Given the description of an element on the screen output the (x, y) to click on. 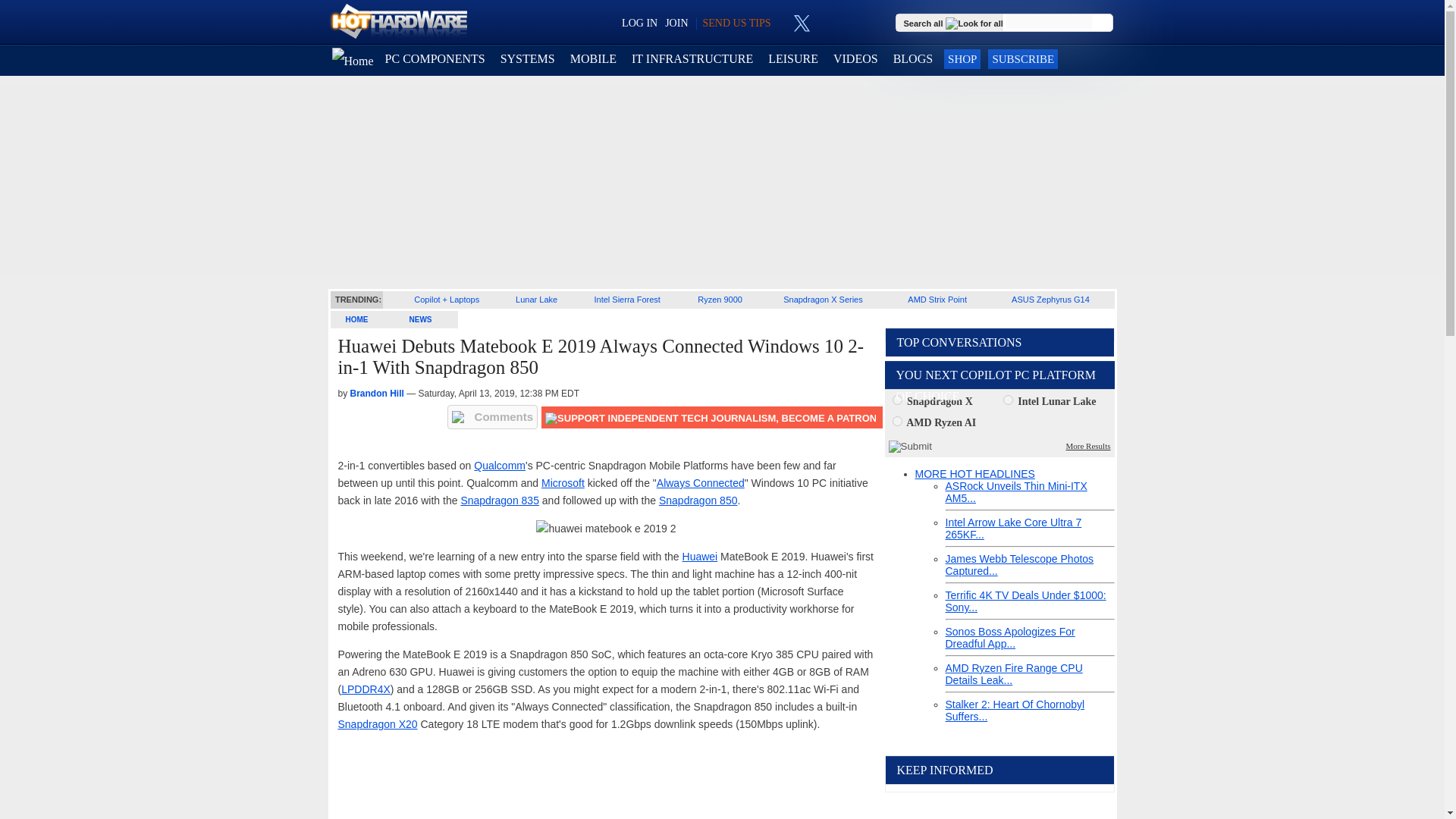
JOIN (676, 22)
SEND US TIPS (735, 22)
757 (896, 399)
759 (896, 420)
Go (1103, 22)
Go (1103, 22)
PC COMPONENTS (435, 58)
Comments (492, 416)
Go (1103, 22)
758 (1008, 399)
Blogs (912, 58)
keyword (1049, 21)
LOG IN (639, 22)
SIGN OUT (39, 18)
Search all (955, 22)
